Given the description of an element on the screen output the (x, y) to click on. 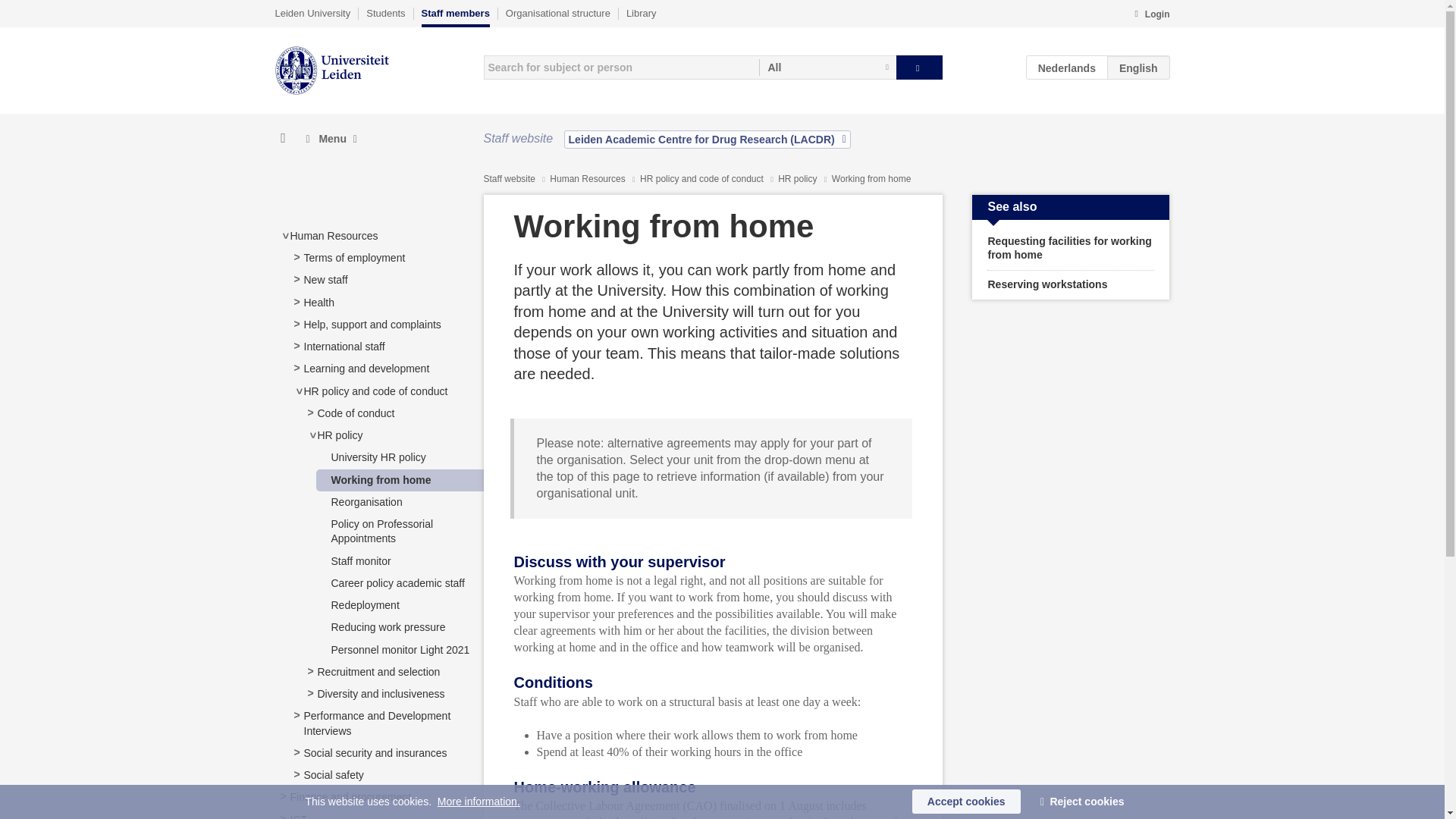
Organisational structure (557, 13)
Login (1151, 14)
Students (385, 13)
Leiden University (312, 13)
NL (1067, 67)
Staff members (455, 17)
All (827, 67)
Human Resources (333, 235)
Library (641, 13)
Menu (330, 139)
Search (919, 67)
Terms of employment (353, 257)
